Given the description of an element on the screen output the (x, y) to click on. 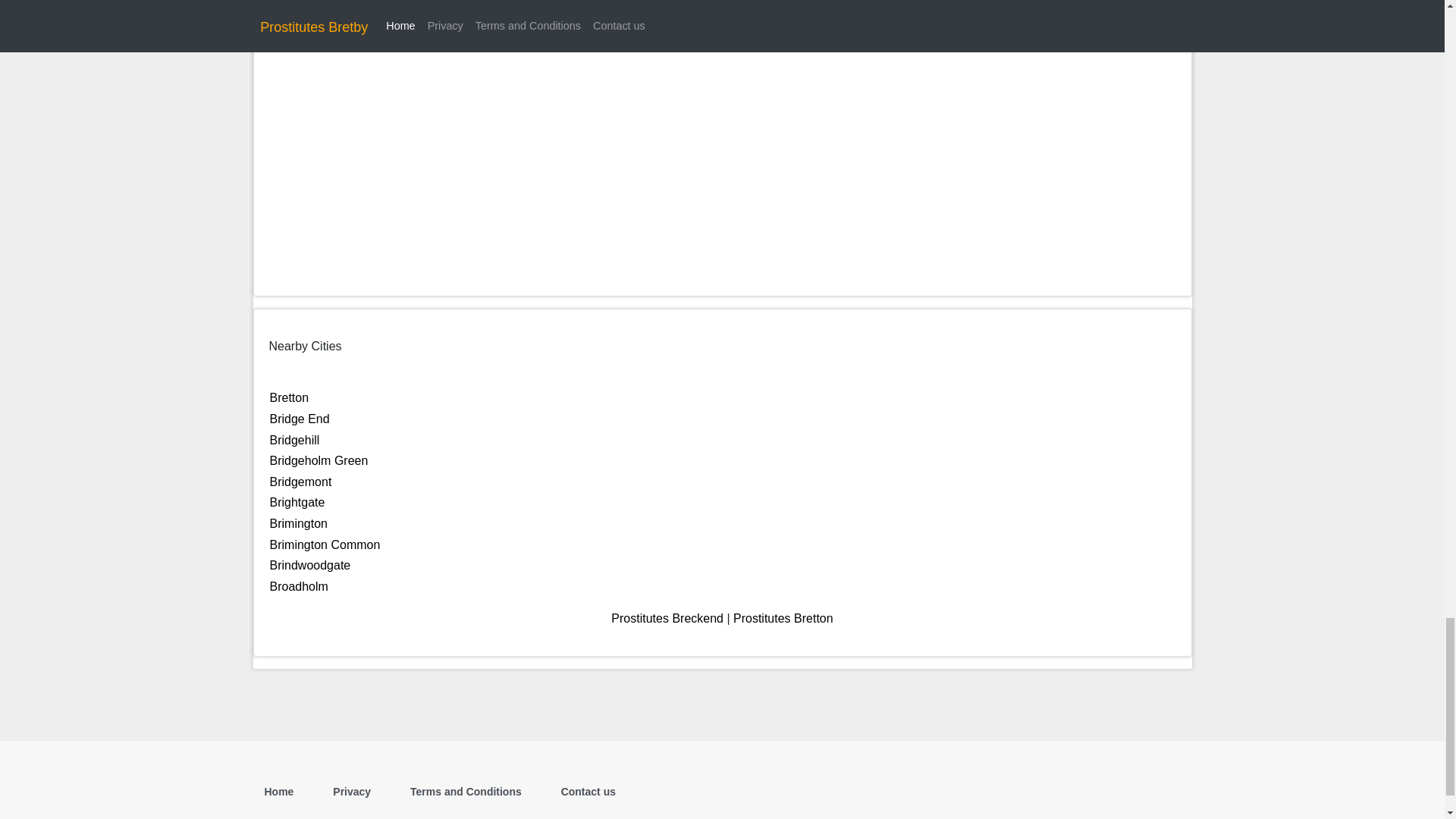
Brightgate (296, 502)
Bridgeholm Green (318, 460)
Bridgehill (294, 440)
Brindwoodgate (309, 564)
Bretton (288, 397)
Brimington (298, 522)
Brimington Common (324, 544)
Prostitutes Breckend (667, 617)
Prostitutes Bretton (782, 617)
Bridgemont (300, 481)
